Given the description of an element on the screen output the (x, y) to click on. 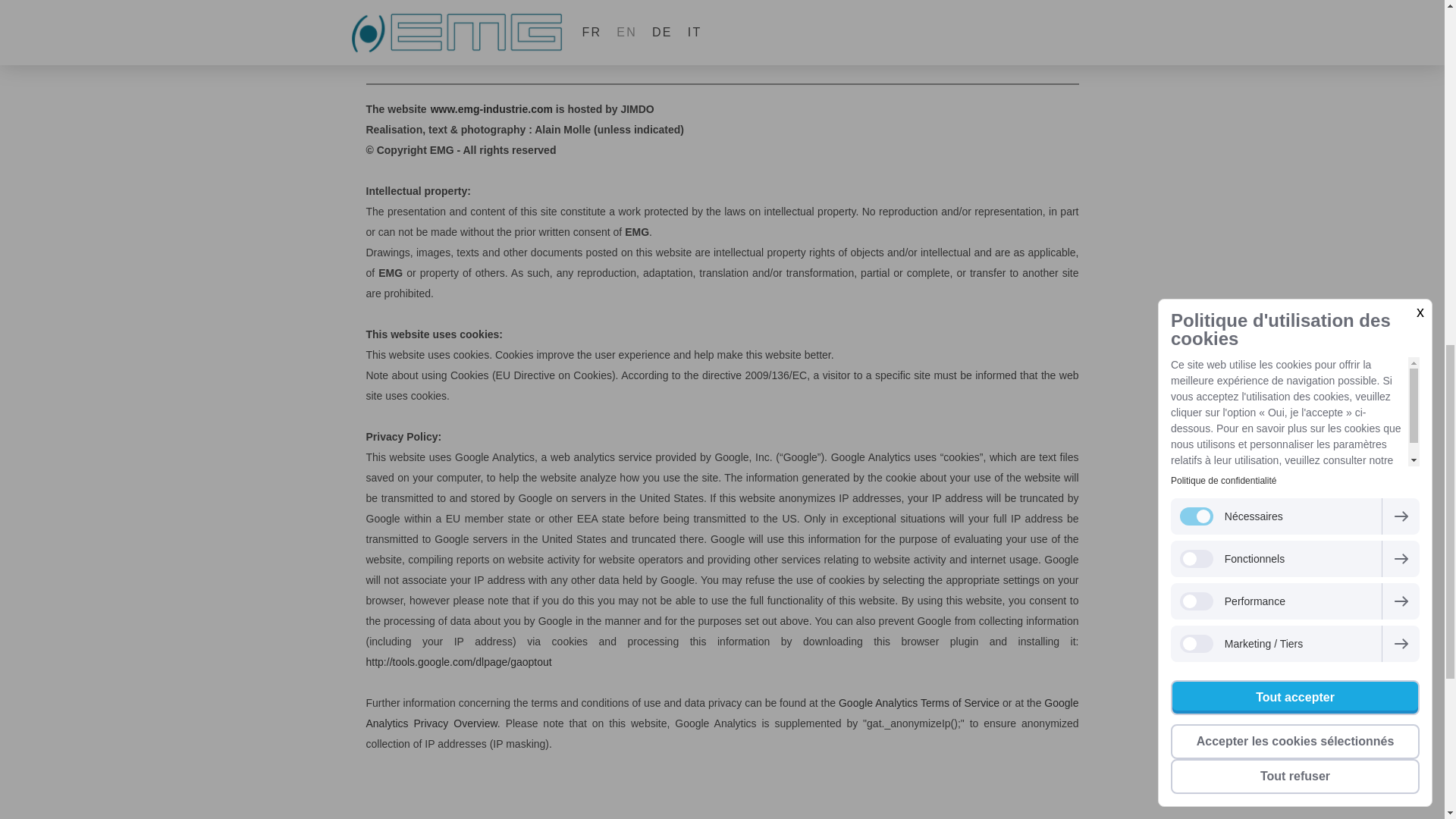
FR (491, 109)
